Given the description of an element on the screen output the (x, y) to click on. 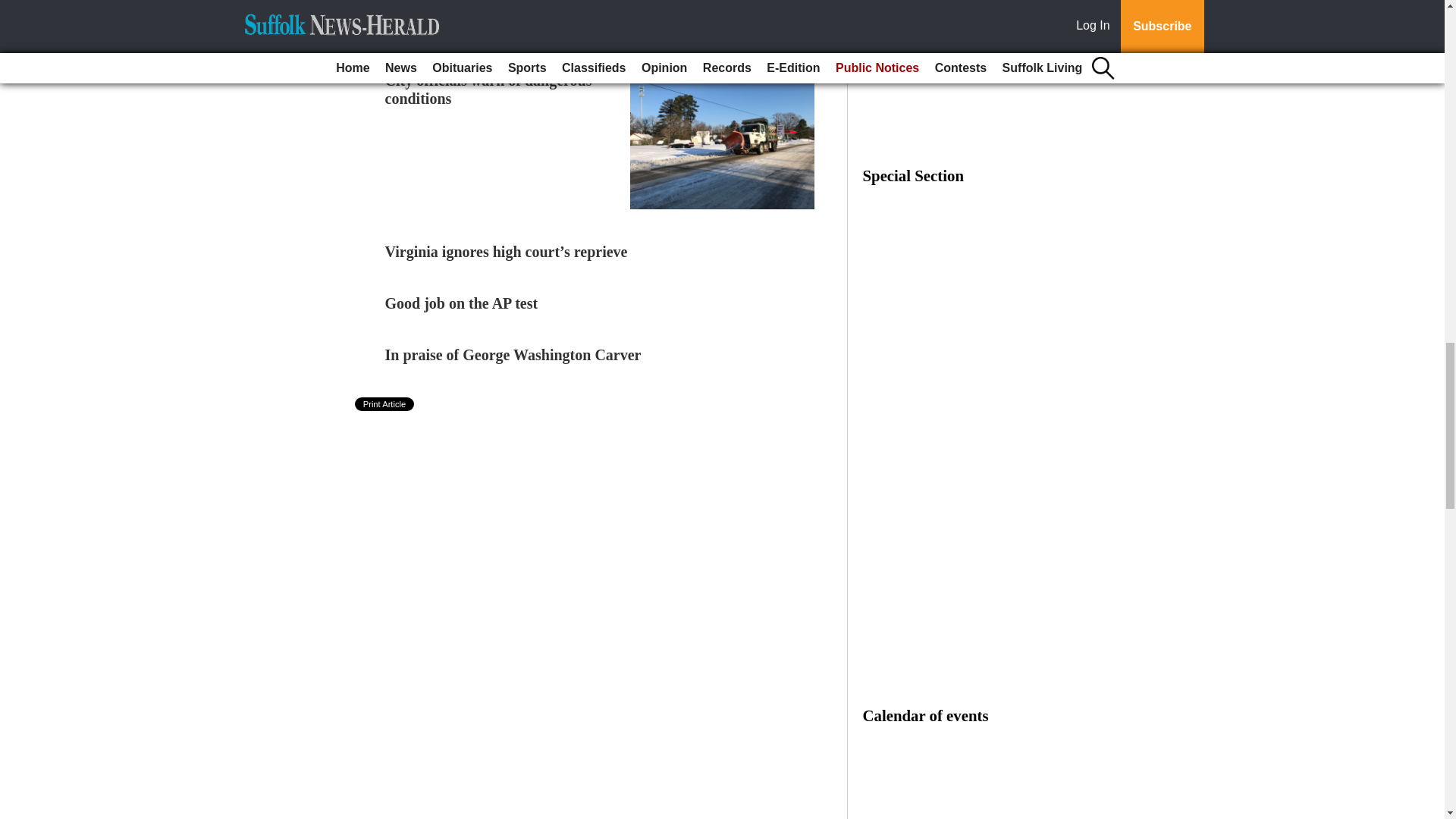
Good job on the AP test (461, 303)
Print Article (384, 404)
City officials warn of dangerous conditions (488, 89)
City officials warn of dangerous conditions (488, 89)
Good job on the AP test (461, 303)
In praise of George Washington Carver (513, 354)
In praise of George Washington Carver (513, 354)
